Given the description of an element on the screen output the (x, y) to click on. 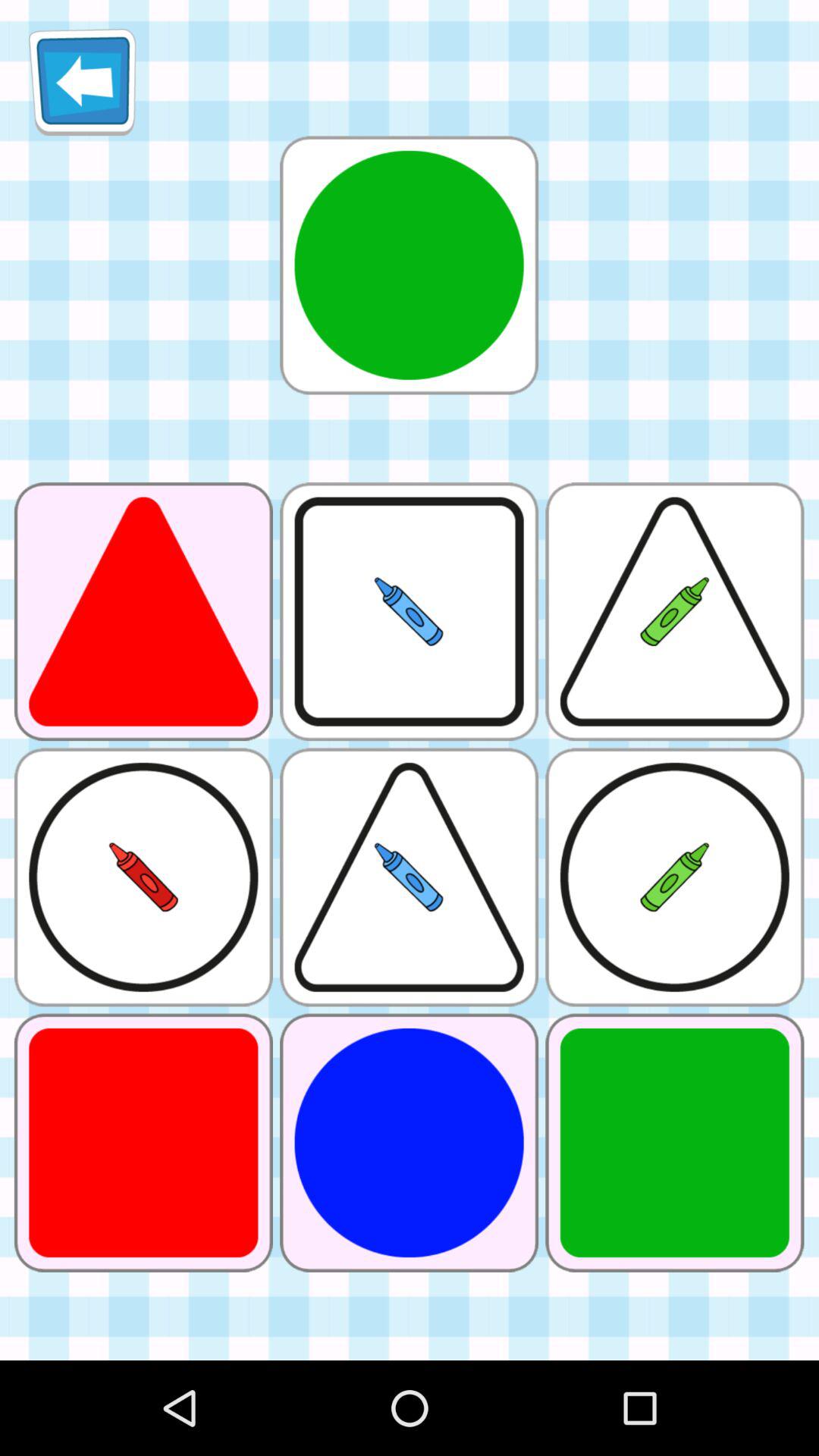
this option advertisement (409, 265)
